Given the description of an element on the screen output the (x, y) to click on. 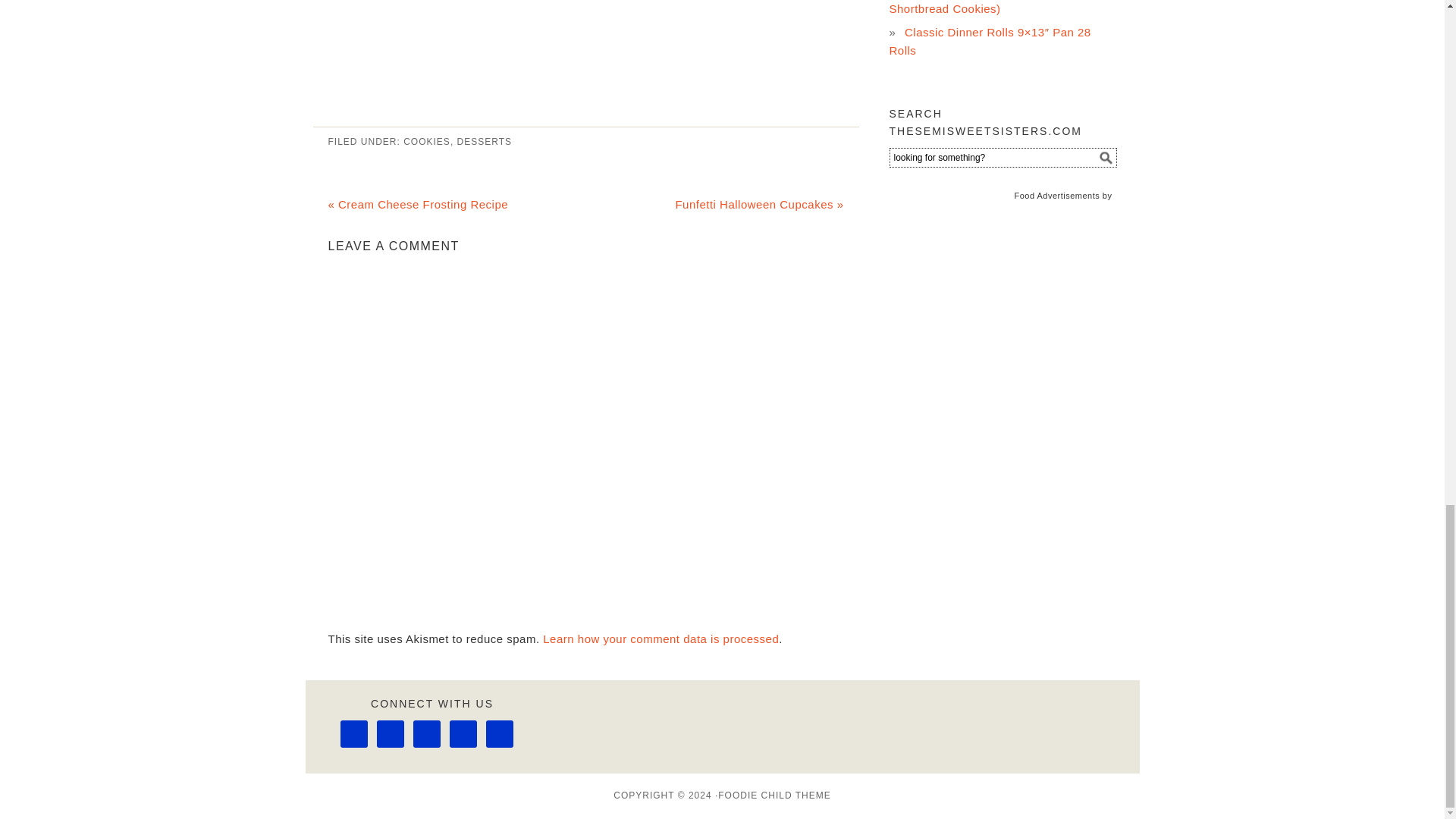
COOKIES (426, 141)
DESSERTS (484, 141)
Learn how your comment data is processed (660, 638)
